Given the description of an element on the screen output the (x, y) to click on. 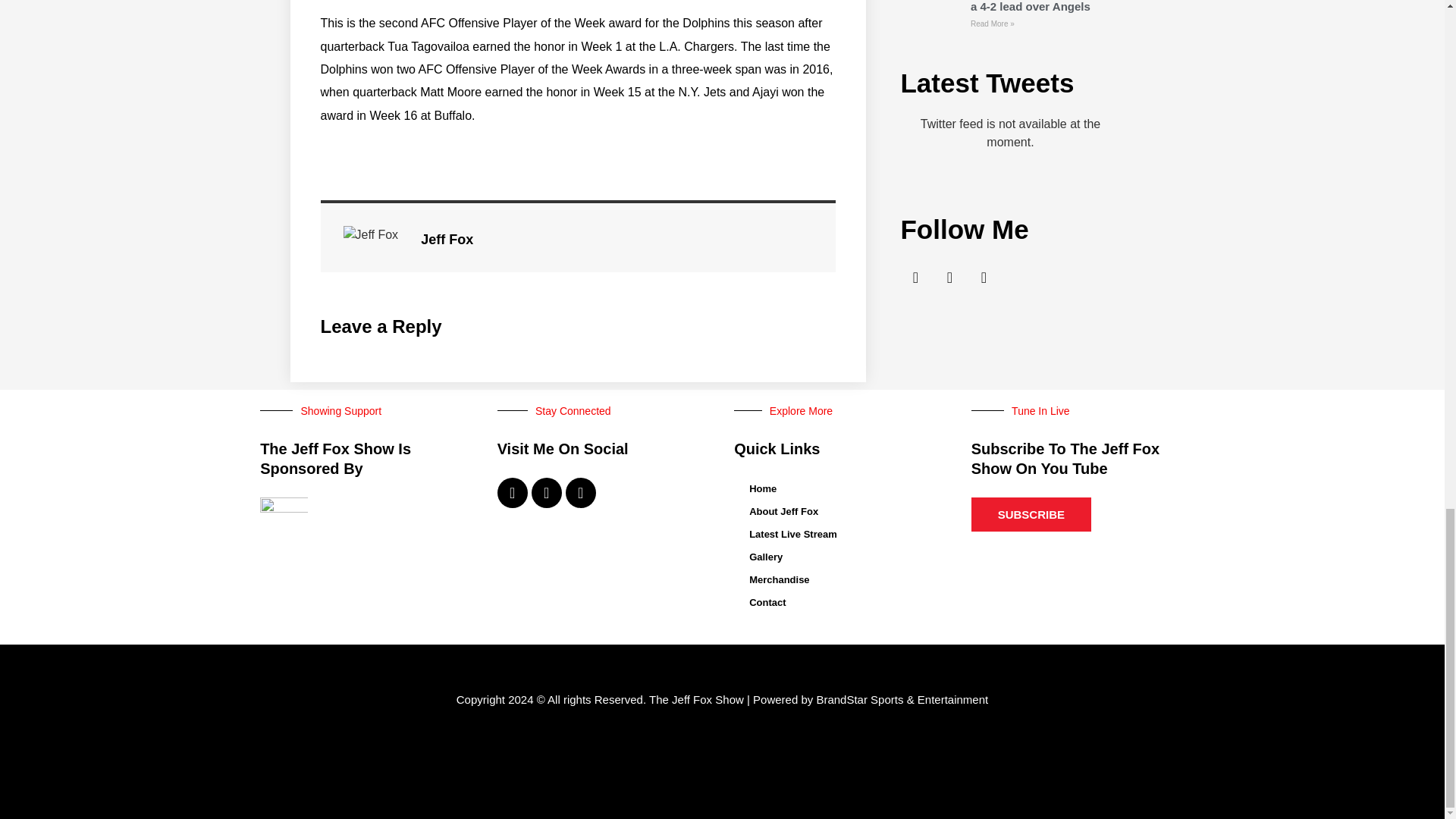
About Jeff Fox (840, 511)
Home (840, 488)
